Given the description of an element on the screen output the (x, y) to click on. 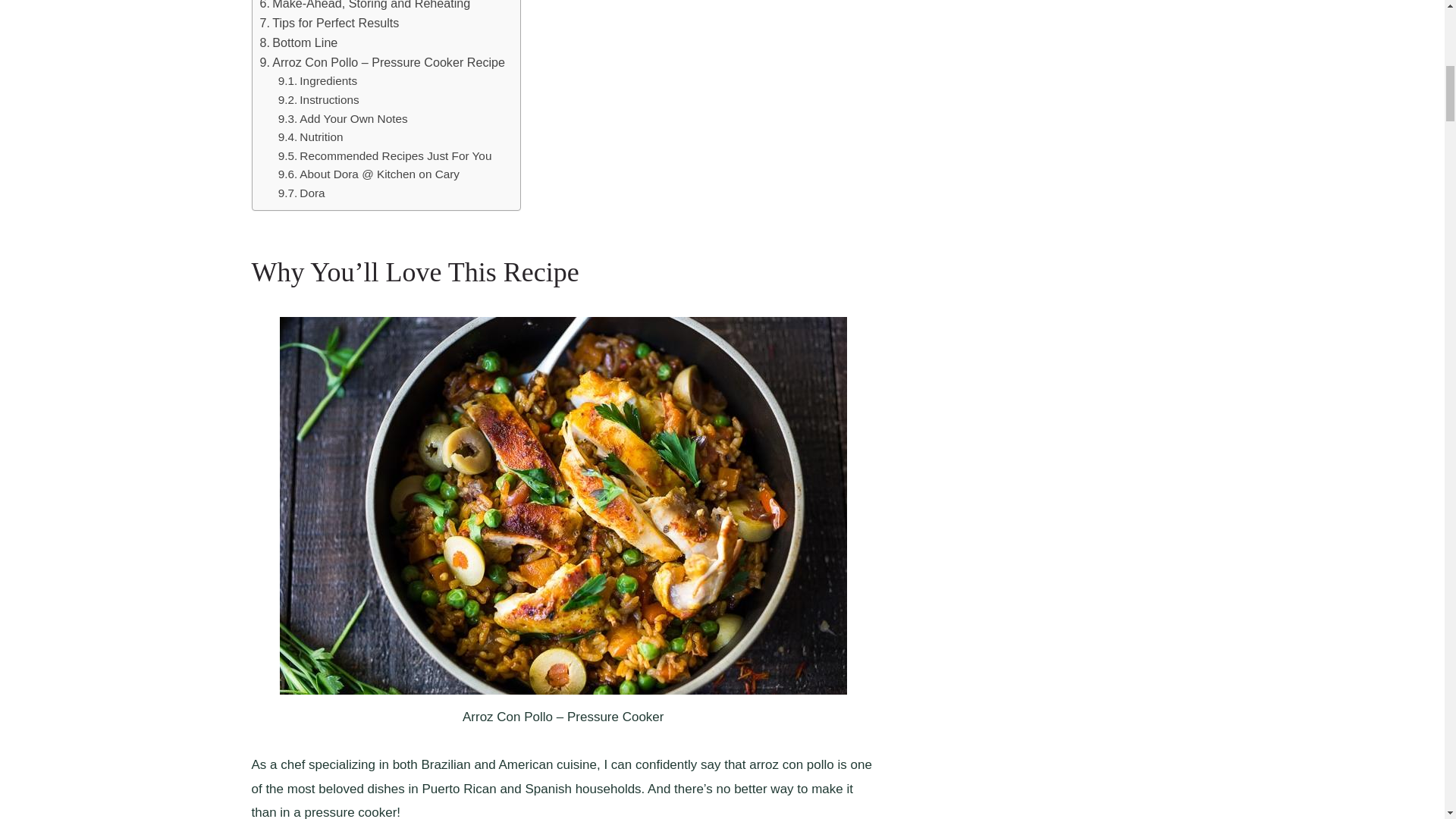
Make-Ahead, Storing and Reheating (364, 6)
Make-Ahead, Storing and Reheating (364, 6)
Ingredients   (321, 81)
Tips for Perfect Results (328, 23)
Recommended Recipes Just For You (385, 156)
Nutrition (310, 137)
Bottom Line (298, 43)
